Given the description of an element on the screen output the (x, y) to click on. 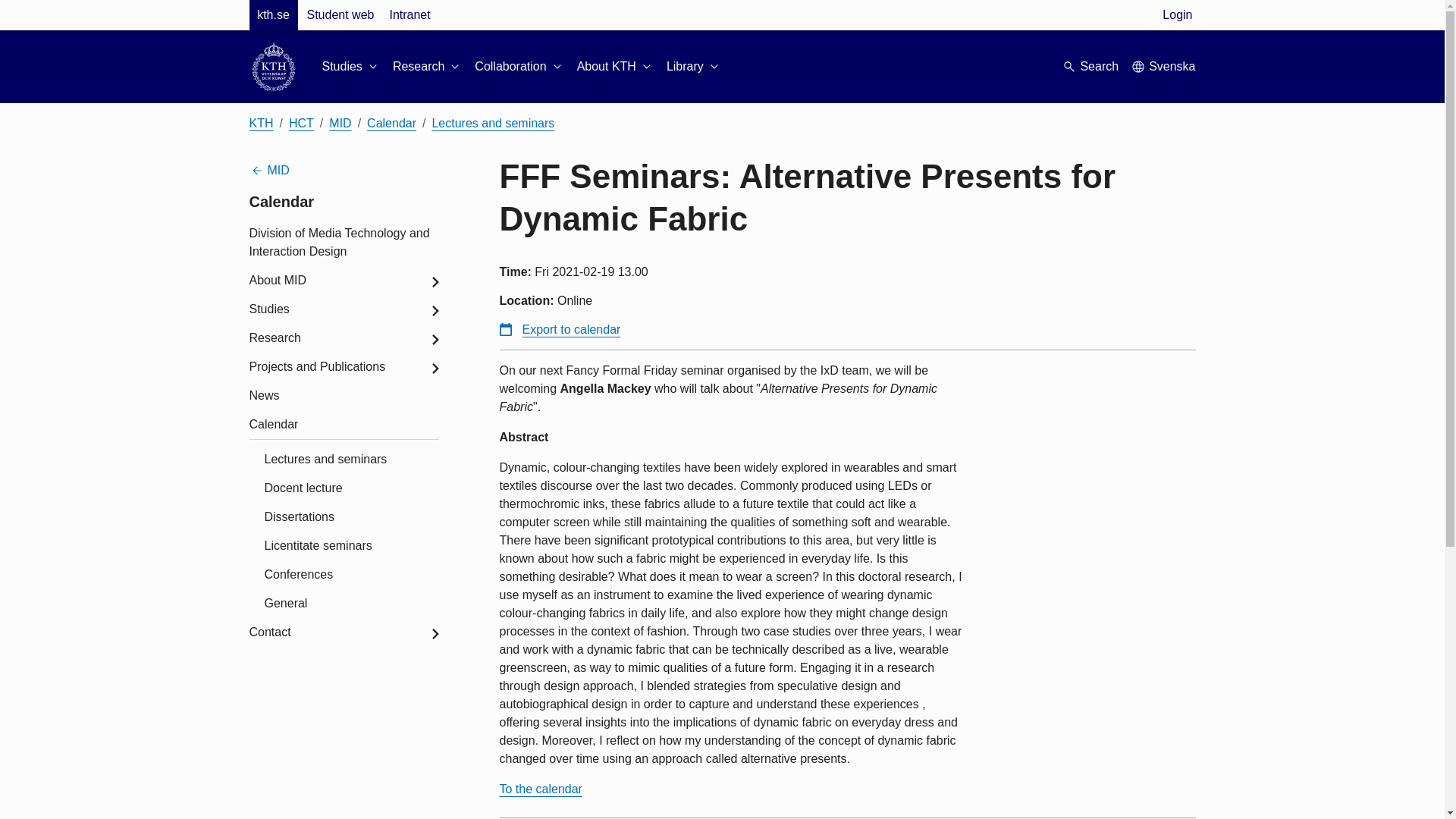
About KTH (614, 66)
Research (428, 66)
Login (1176, 15)
Student web (339, 15)
kth.se (272, 15)
Studies (350, 66)
Library (694, 66)
Collaboration (519, 66)
Intranet (408, 15)
